Given the description of an element on the screen output the (x, y) to click on. 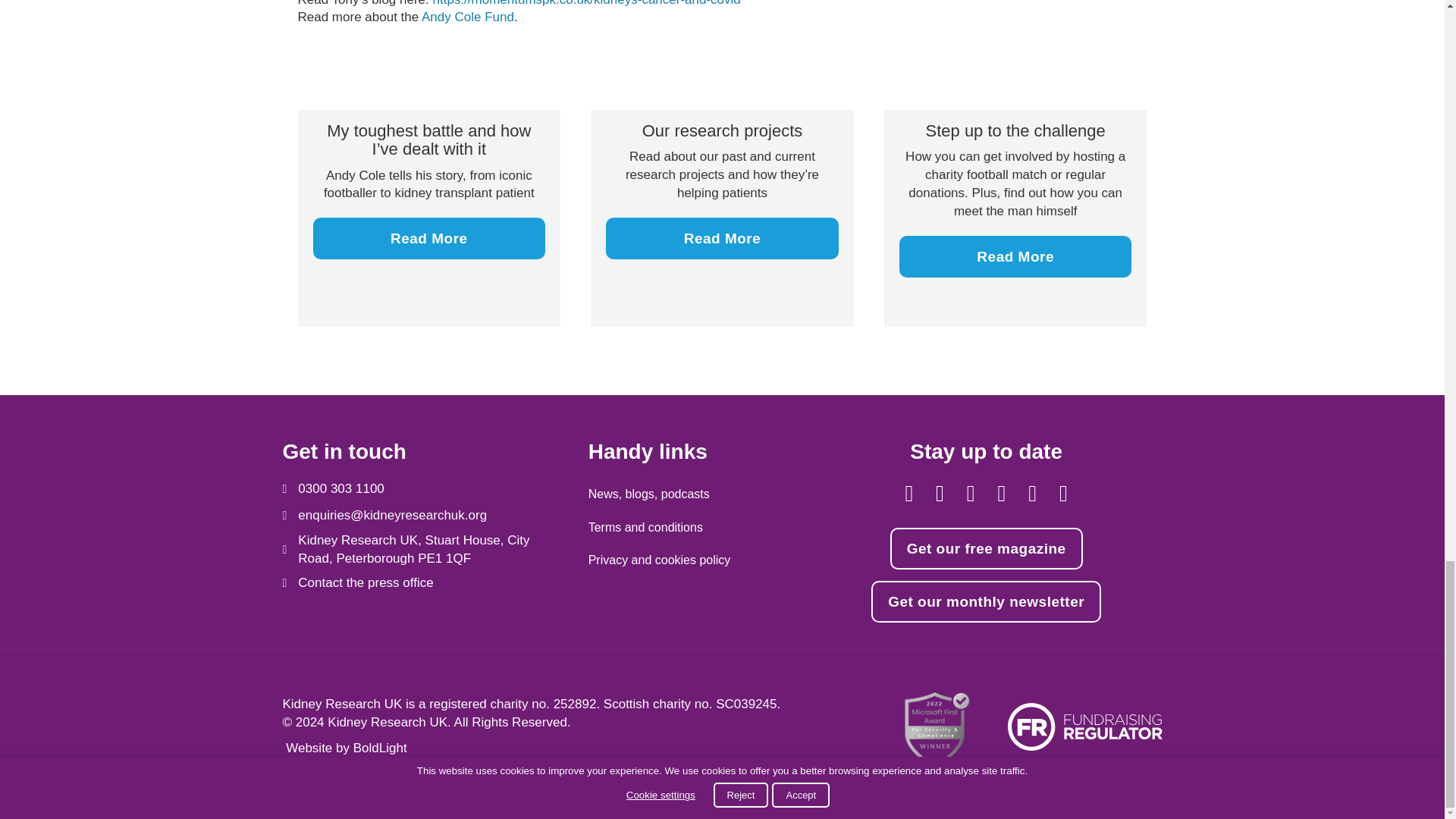
MS-security-award (933, 730)
